Given the description of an element on the screen output the (x, y) to click on. 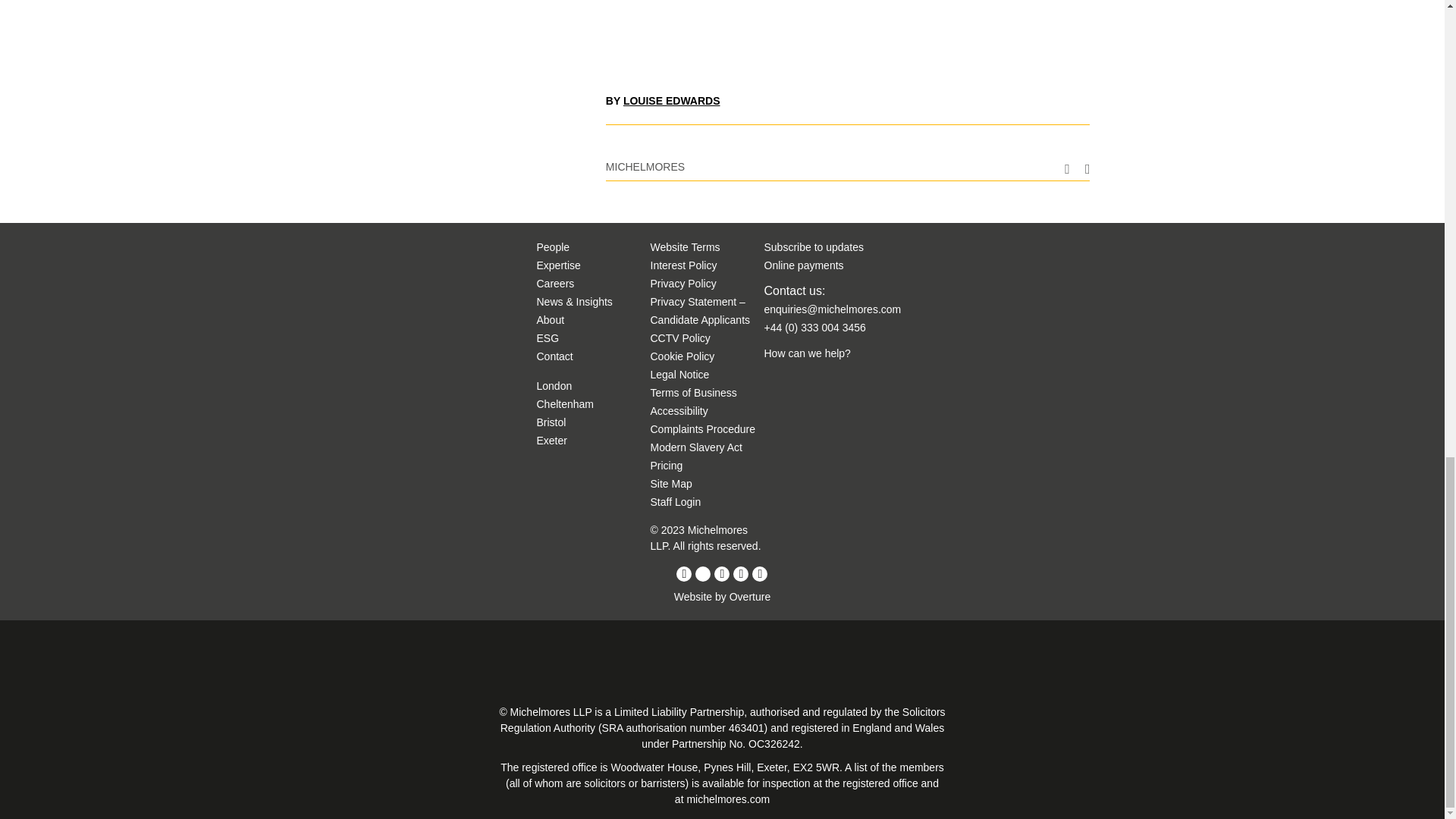
LOUISE EDWARDS (671, 101)
Careers (556, 283)
Contact (555, 356)
About (550, 319)
Website Terms (685, 246)
Cheltenham (565, 404)
Bristol (551, 422)
London (554, 386)
MICHELMORES (644, 166)
Privacy Policy (683, 283)
